Given the description of an element on the screen output the (x, y) to click on. 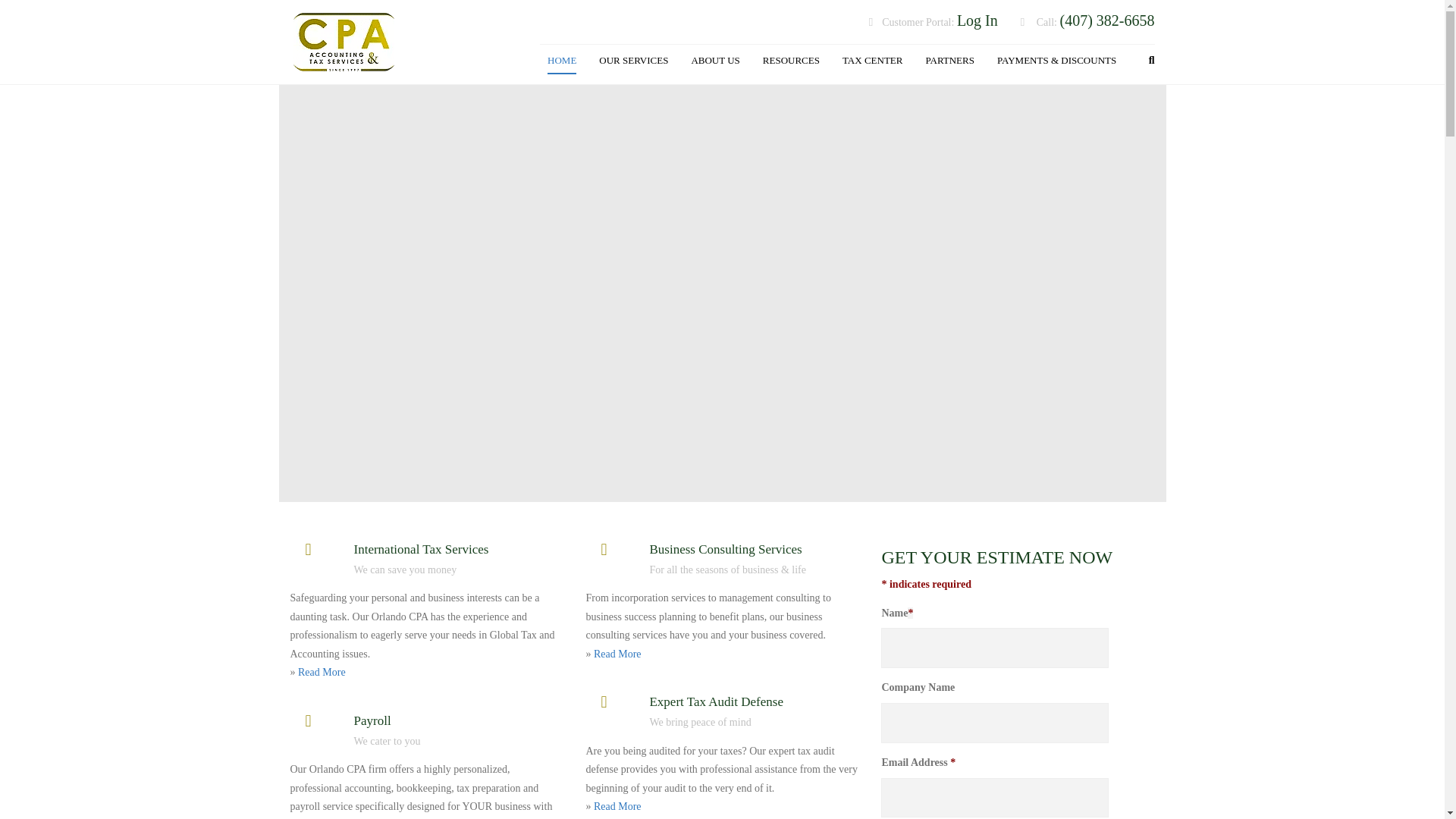
HOME (561, 60)
OUR SERVICES (633, 60)
Log In (976, 21)
